Given the description of an element on the screen output the (x, y) to click on. 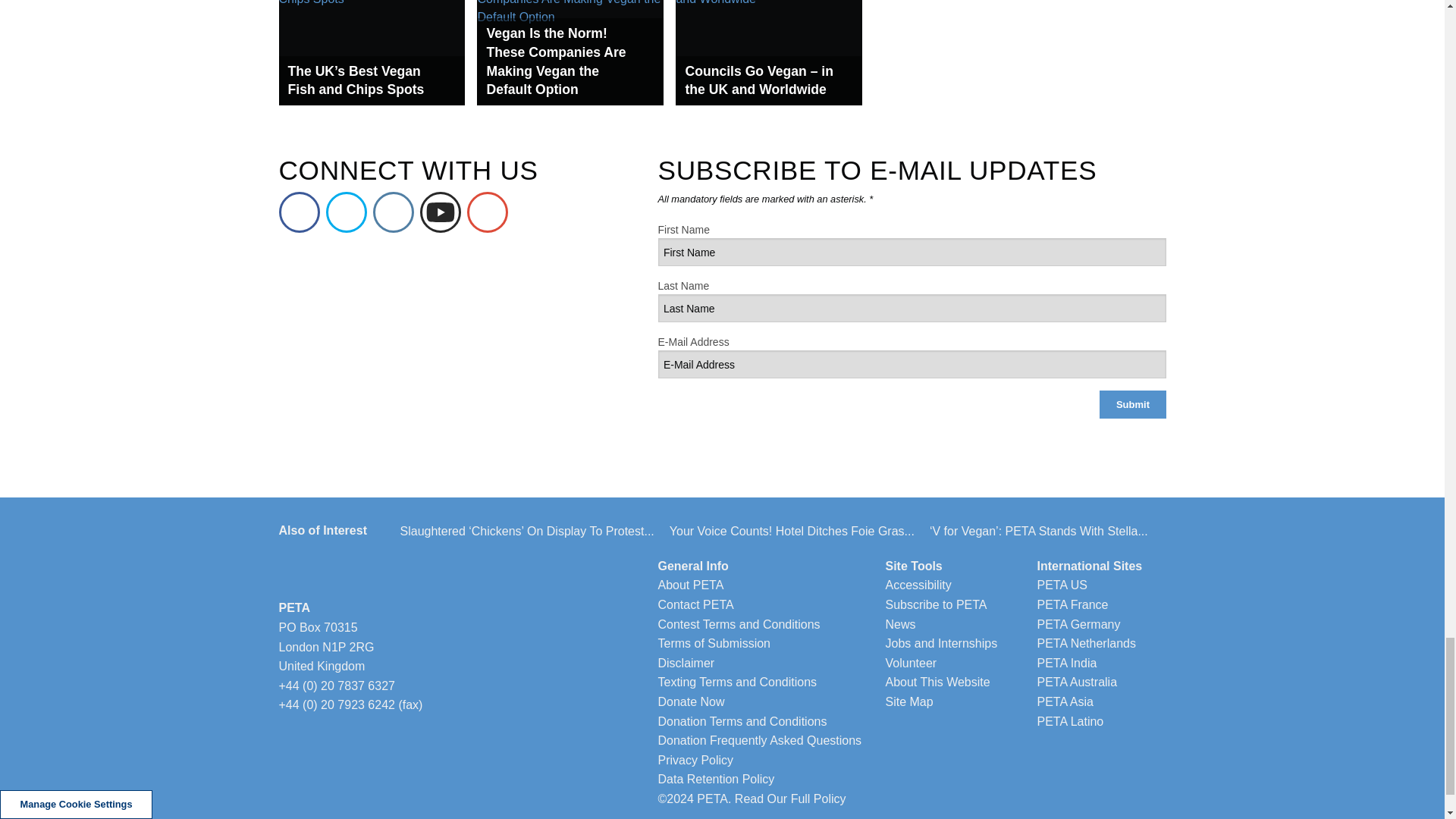
Submit (1132, 404)
